Given the description of an element on the screen output the (x, y) to click on. 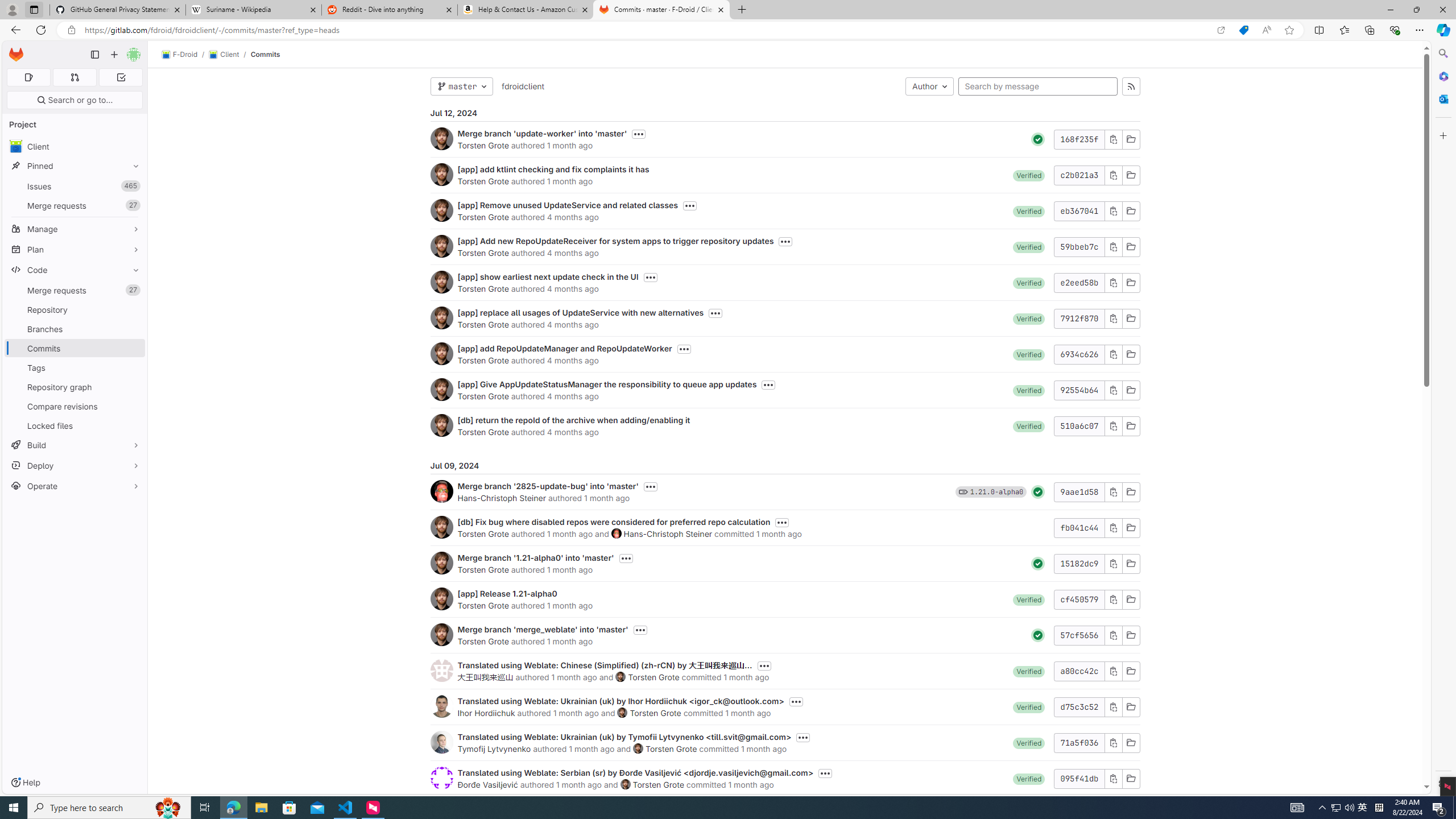
Class: s16 gl-icon gl-button-icon  (1113, 777)
avatar (15, 146)
Plan (74, 248)
Search by message (1038, 85)
Ihor Hordiichuk's avatar (440, 706)
F-Droid/ (185, 54)
Repository graph (74, 386)
Pin Repository graph (132, 386)
Tags (74, 367)
Primary navigation sidebar (94, 54)
master (461, 85)
